Given the description of an element on the screen output the (x, y) to click on. 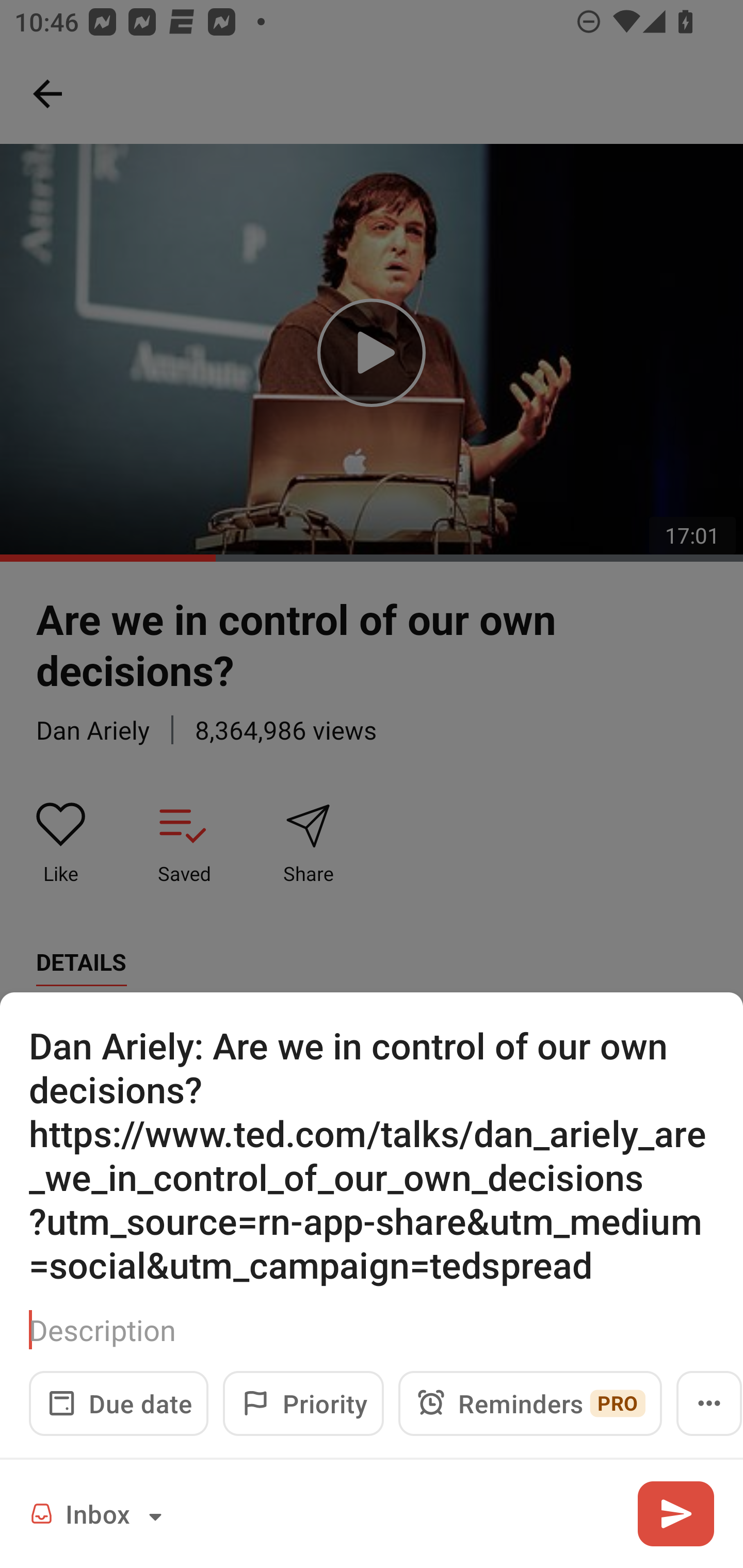
Description (371, 1330)
Due date Date (118, 1403)
Priority (303, 1403)
Reminders PRO Reminders (530, 1403)
Open menu (709, 1403)
Inbox Project (99, 1513)
Add (675, 1513)
